Given the description of an element on the screen output the (x, y) to click on. 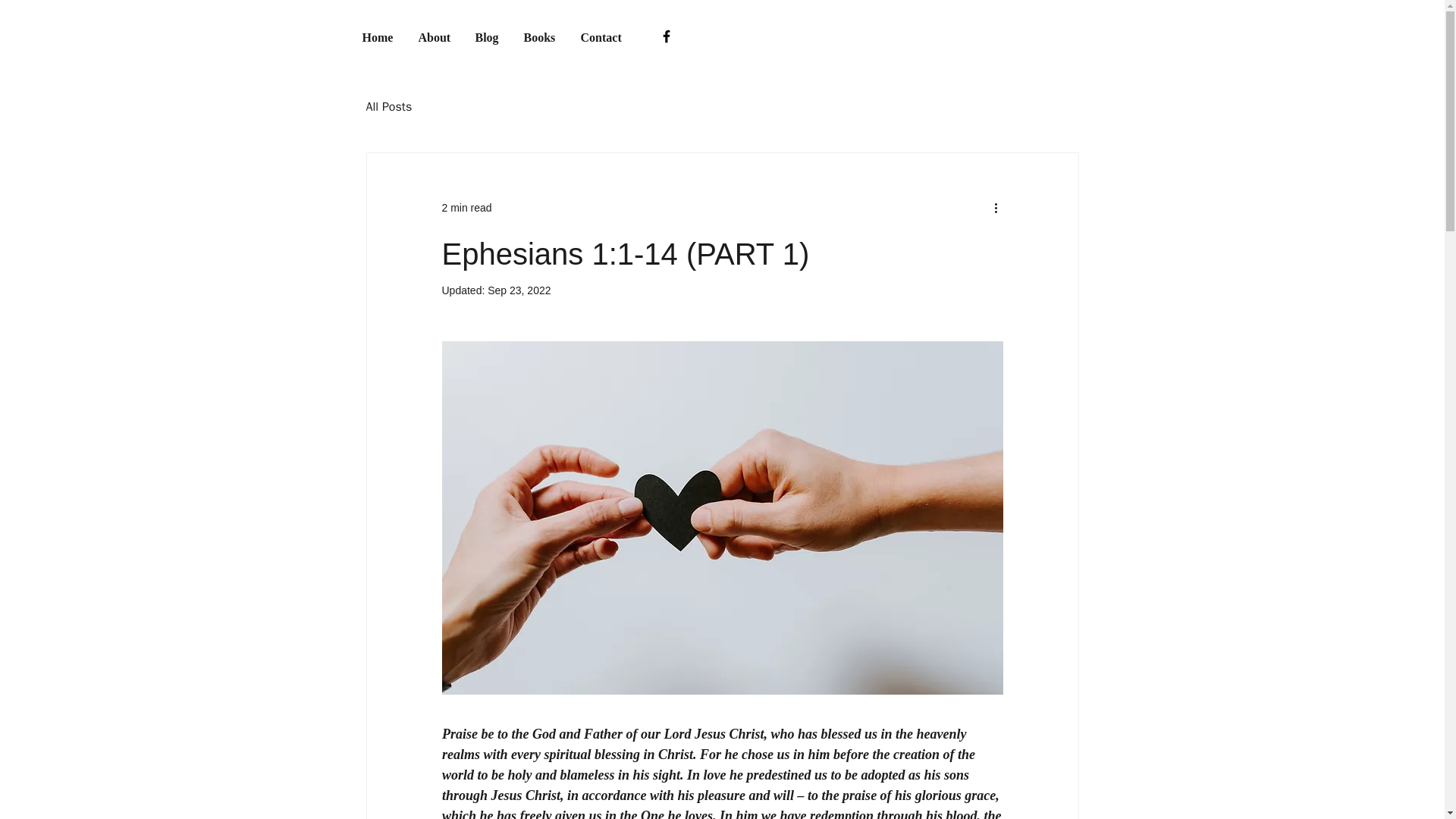
Books (540, 36)
2 min read (466, 207)
All Posts (388, 106)
Blog (488, 36)
About (434, 36)
Home (378, 36)
Sep 23, 2022 (518, 290)
Contact (601, 36)
